Given the description of an element on the screen output the (x, y) to click on. 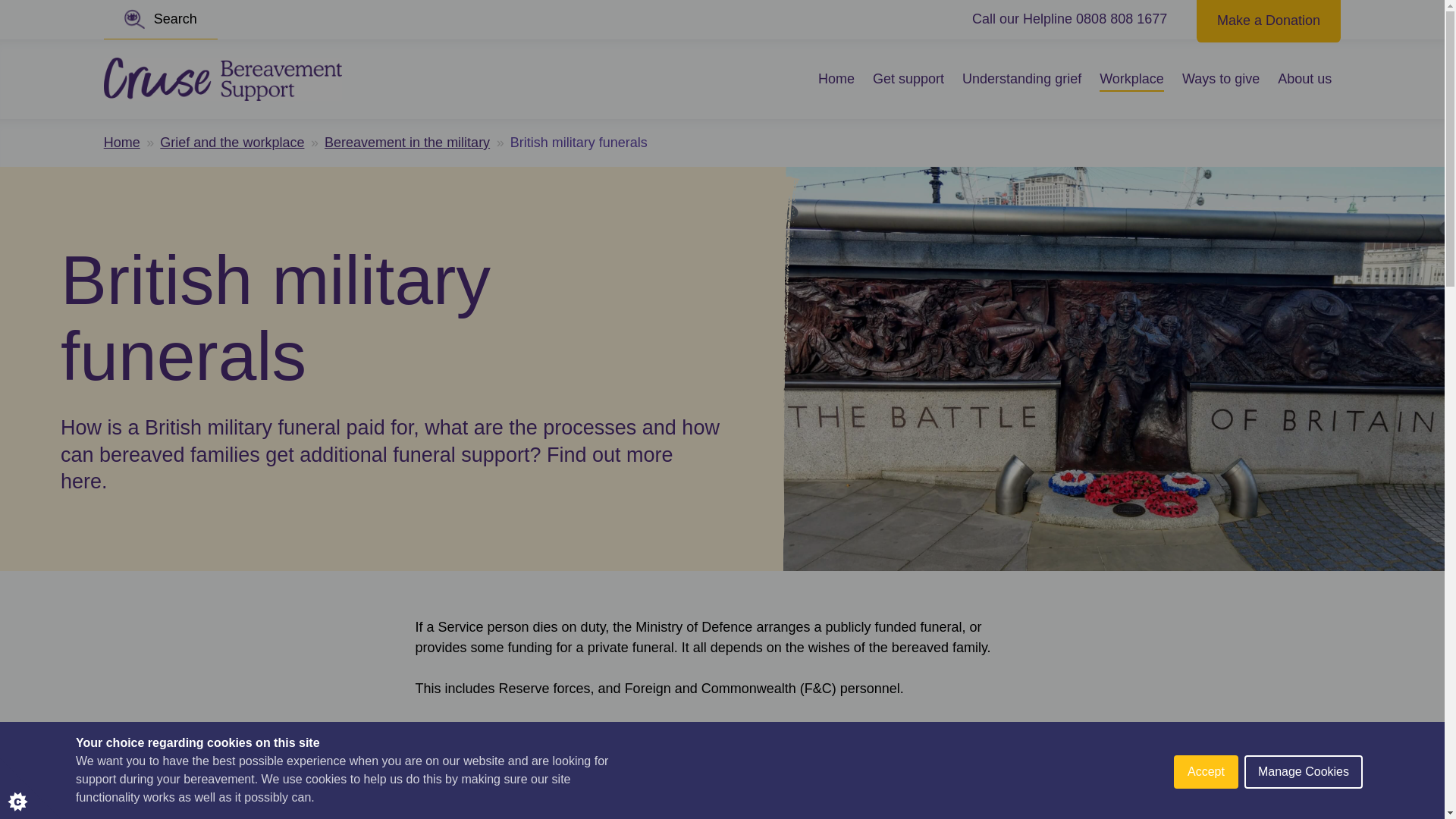
Make a Donation (1268, 19)
Search (159, 19)
Workplace (1131, 78)
Ways to give (1220, 78)
Accept (1206, 816)
Manage Cookies (1303, 807)
Understanding grief (1021, 78)
Get support (908, 78)
Home (121, 142)
Call our Helpline 0808 808 1677 (1070, 19)
